Given the description of an element on the screen output the (x, y) to click on. 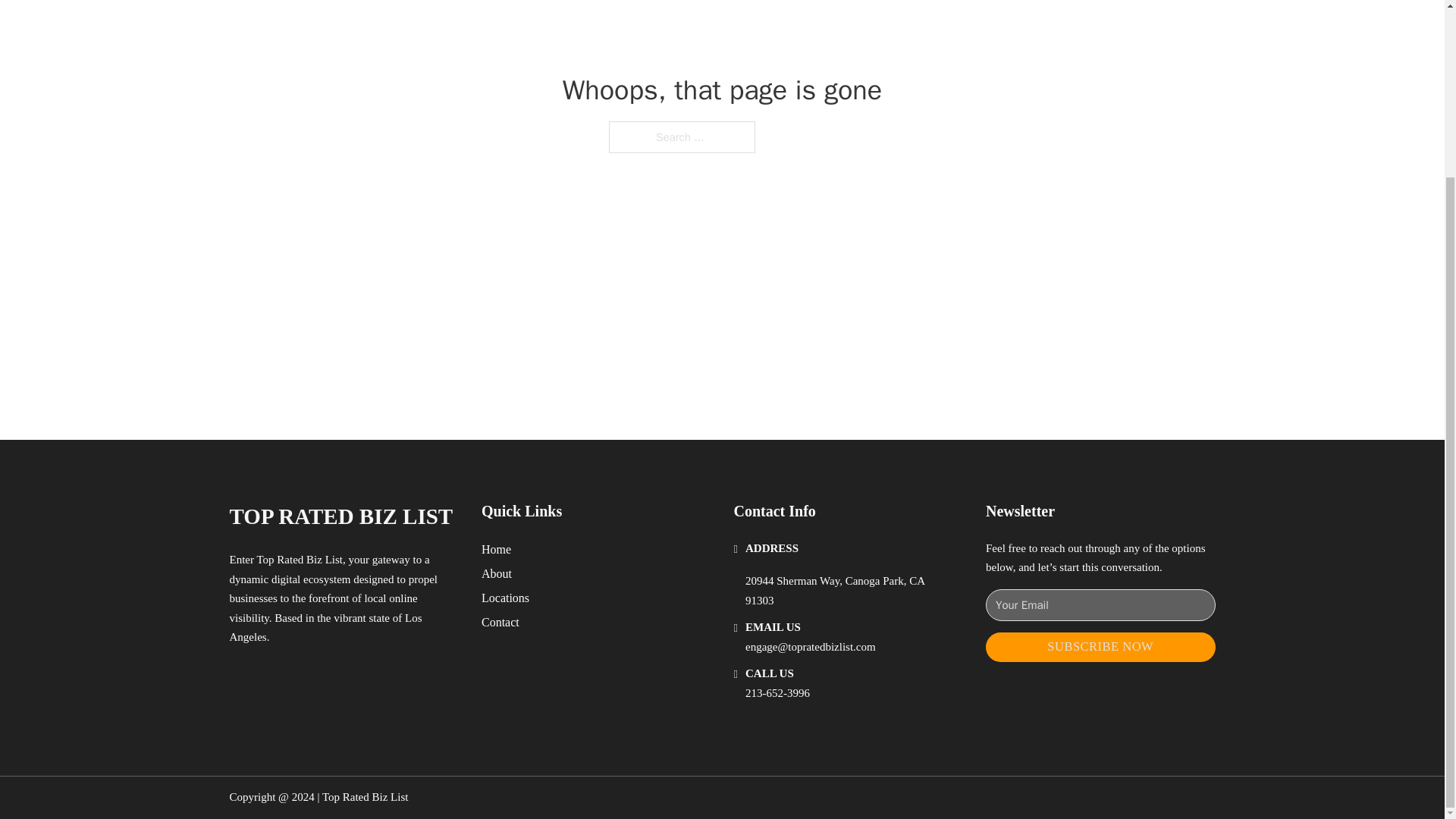
TOP RATED BIZ LIST (340, 516)
Locations (505, 598)
Contact (500, 621)
213-652-3996 (777, 693)
Home (496, 548)
About (496, 573)
SUBSCRIBE NOW (1100, 646)
